Given the description of an element on the screen output the (x, y) to click on. 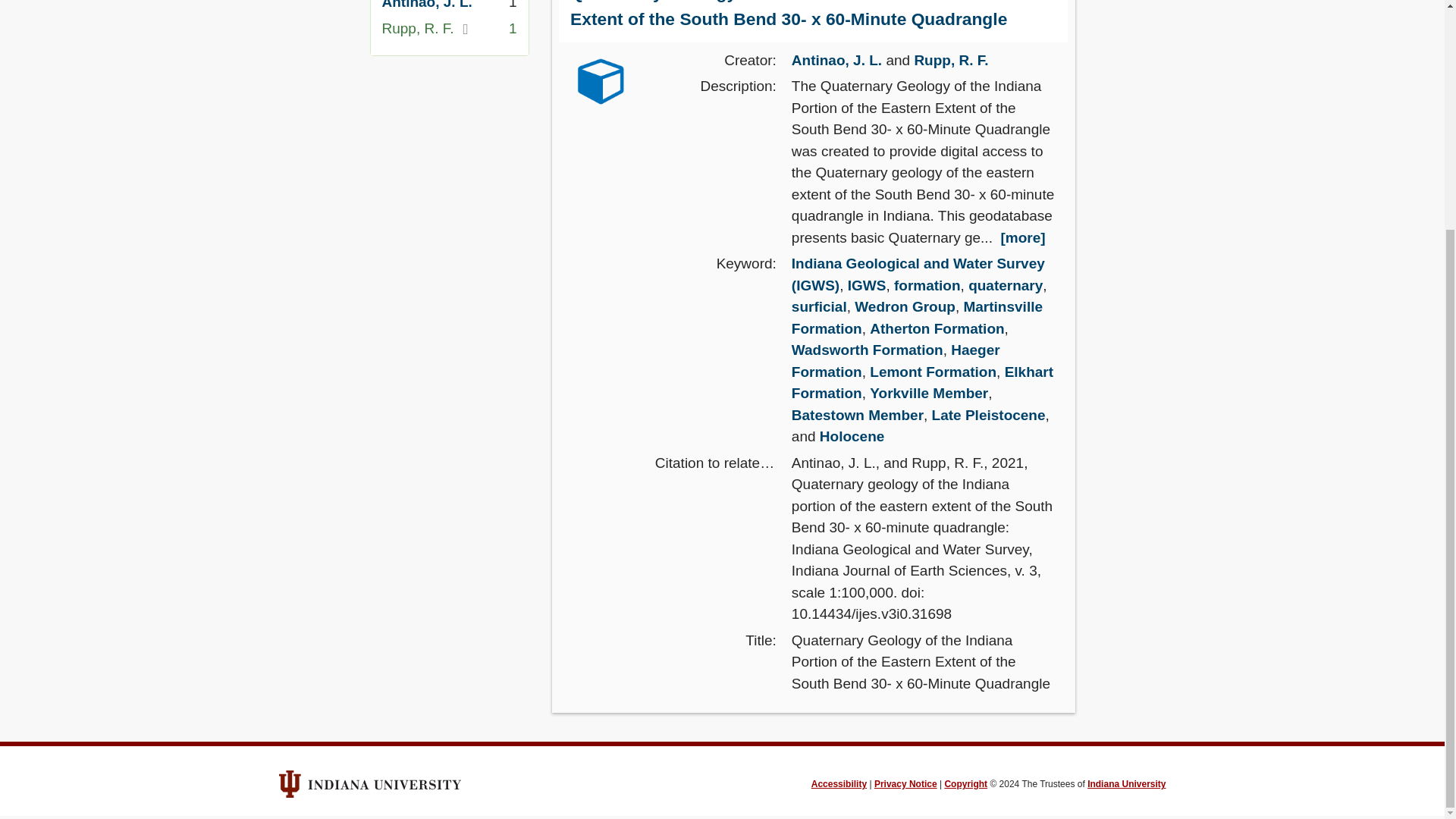
Atherton Formation (936, 328)
Lemont Formation (932, 371)
quaternary (1005, 285)
Rupp, R. F. (951, 59)
IGWS (866, 285)
Antinao, J. L. (837, 59)
Wedron Group (904, 306)
Haeger Formation (896, 361)
formation (926, 285)
Wadsworth Formation (867, 349)
surficial (819, 306)
Martinsville Formation (917, 317)
